Given the description of an element on the screen output the (x, y) to click on. 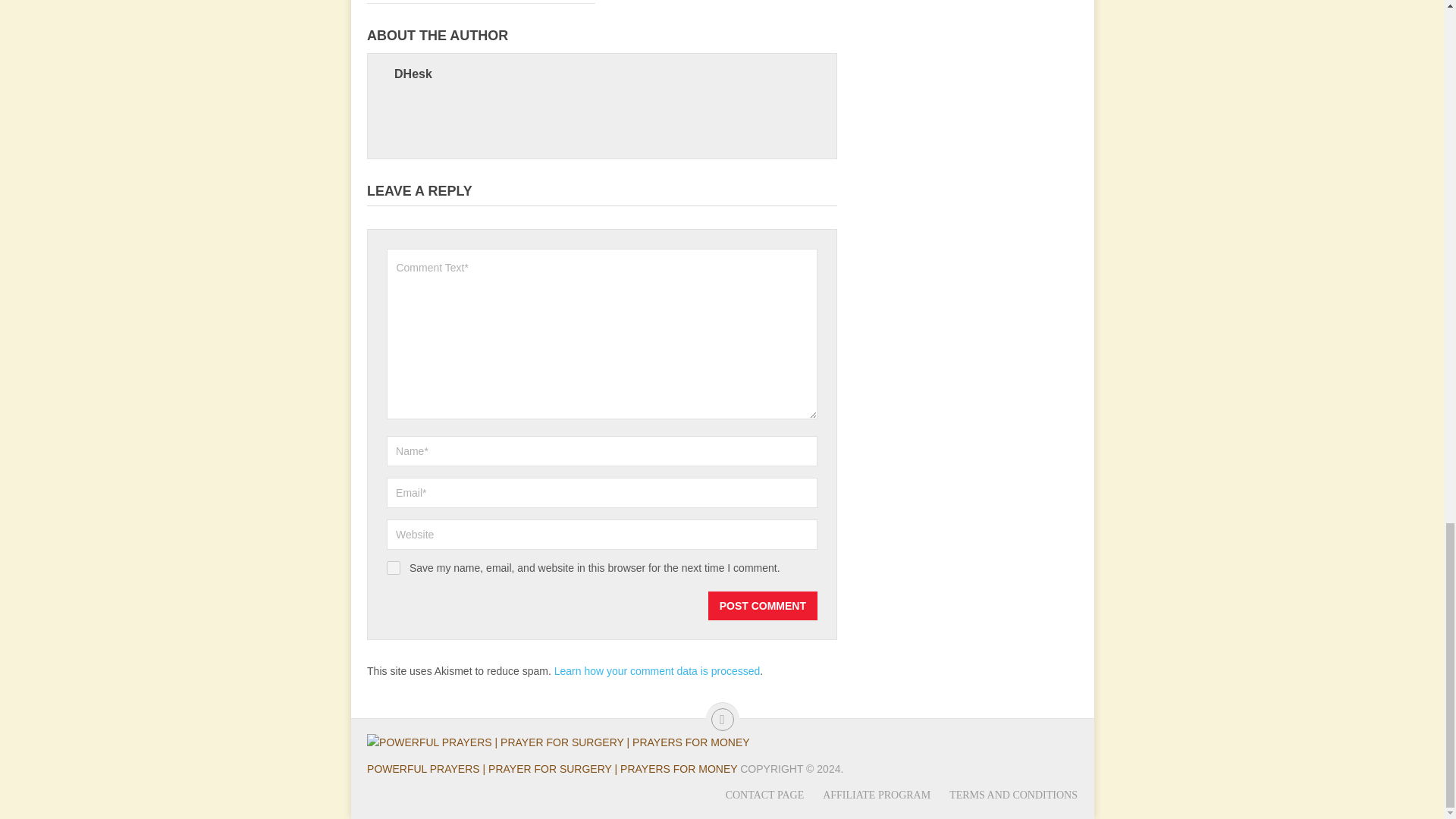
yes (393, 567)
Post Comment (761, 605)
DHesk (413, 73)
Learn how your comment data is processed (657, 671)
Post Comment (761, 605)
